Given the description of an element on the screen output the (x, y) to click on. 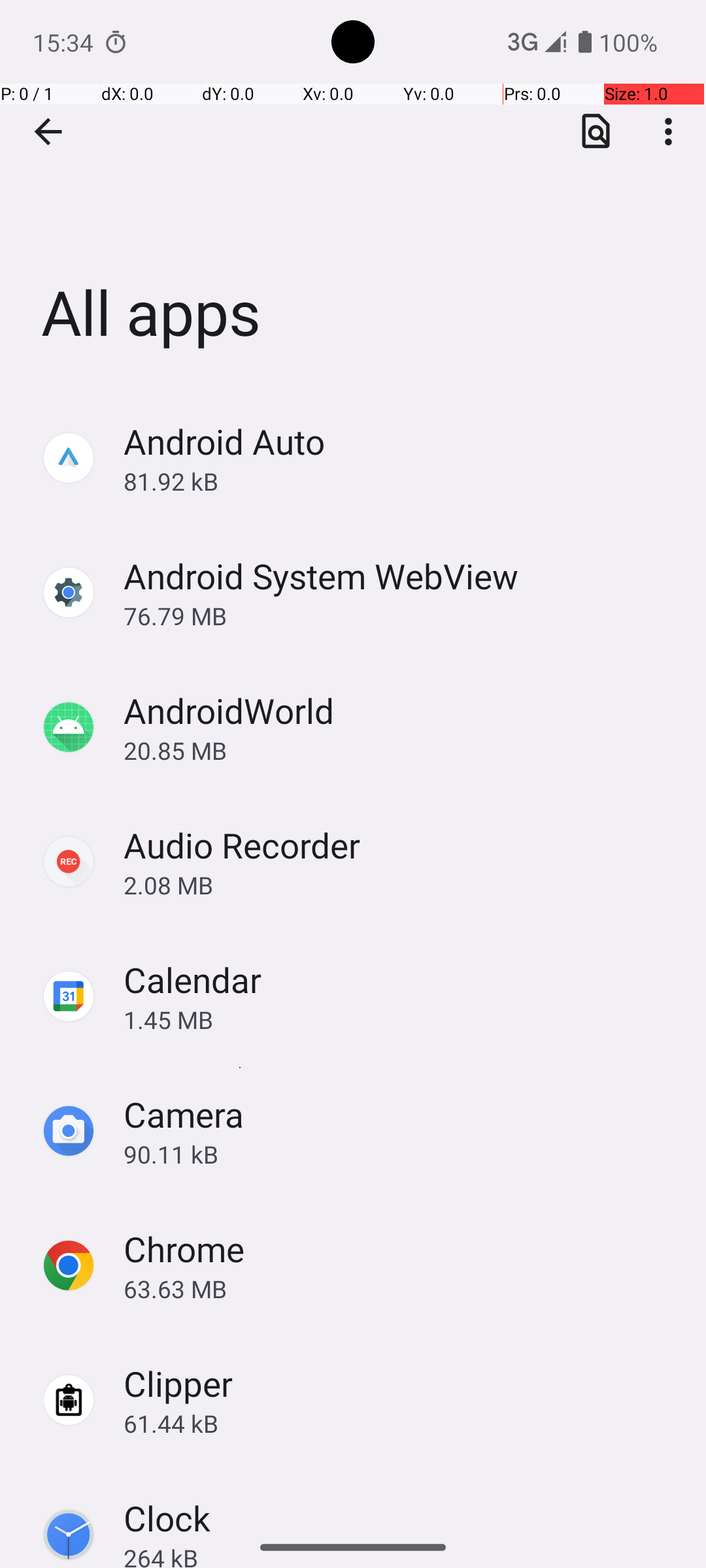
All apps Element type: android.widget.FrameLayout (353, 195)
81.92 kB Element type: android.widget.TextView (400, 480)
76.79 MB Element type: android.widget.TextView (400, 615)
20.85 MB Element type: android.widget.TextView (400, 750)
2.08 MB Element type: android.widget.TextView (400, 884)
1.45 MB Element type: android.widget.TextView (400, 1019)
90.11 kB Element type: android.widget.TextView (400, 1153)
63.63 MB Element type: android.widget.TextView (400, 1288)
61.44 kB Element type: android.widget.TextView (400, 1422)
